Given the description of an element on the screen output the (x, y) to click on. 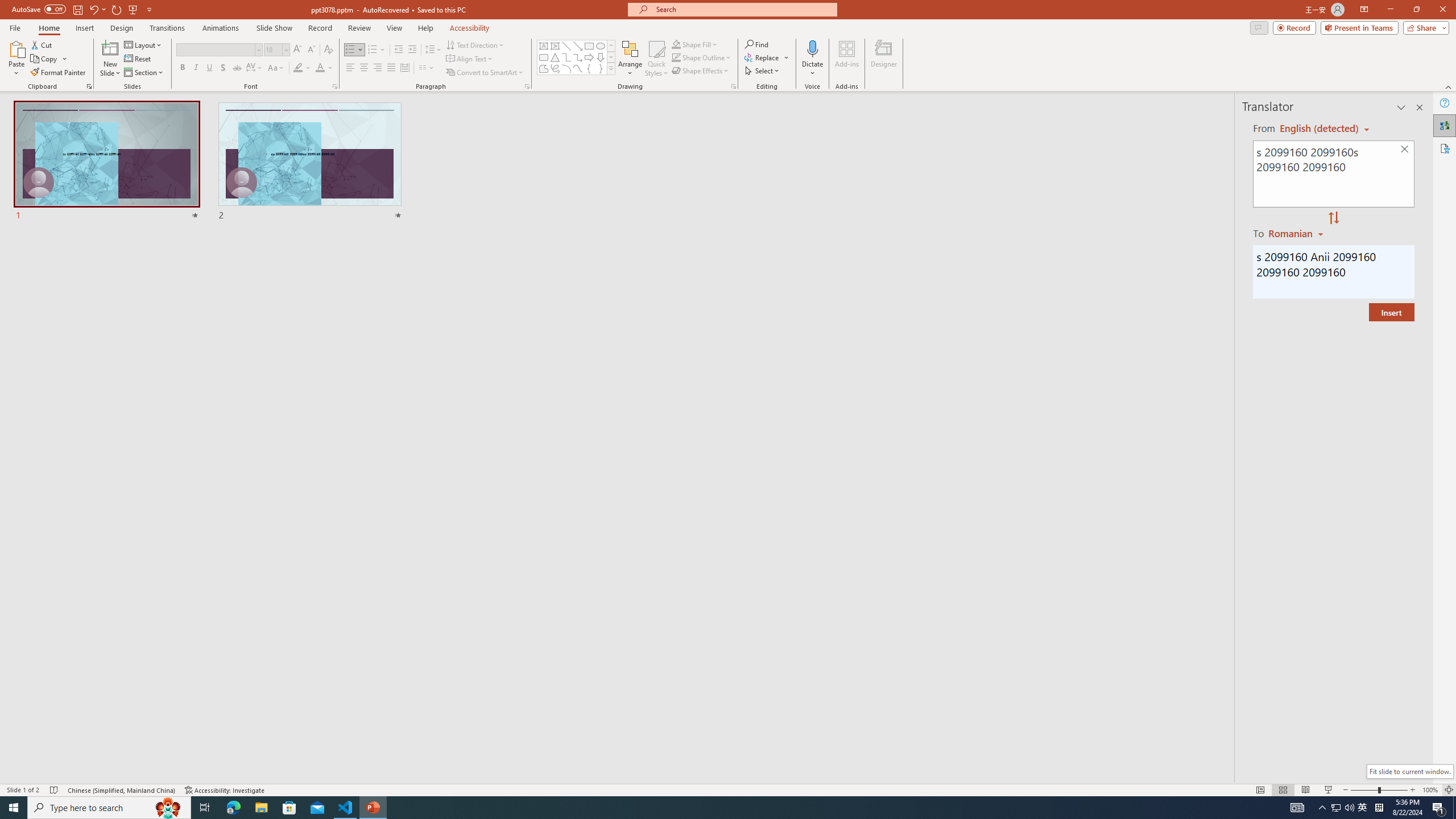
Shape Outline (701, 56)
Arrow: Right (589, 57)
Bold (182, 67)
Clear Formatting (327, 49)
Cut (42, 44)
Arrange (630, 58)
